Given the description of an element on the screen output the (x, y) to click on. 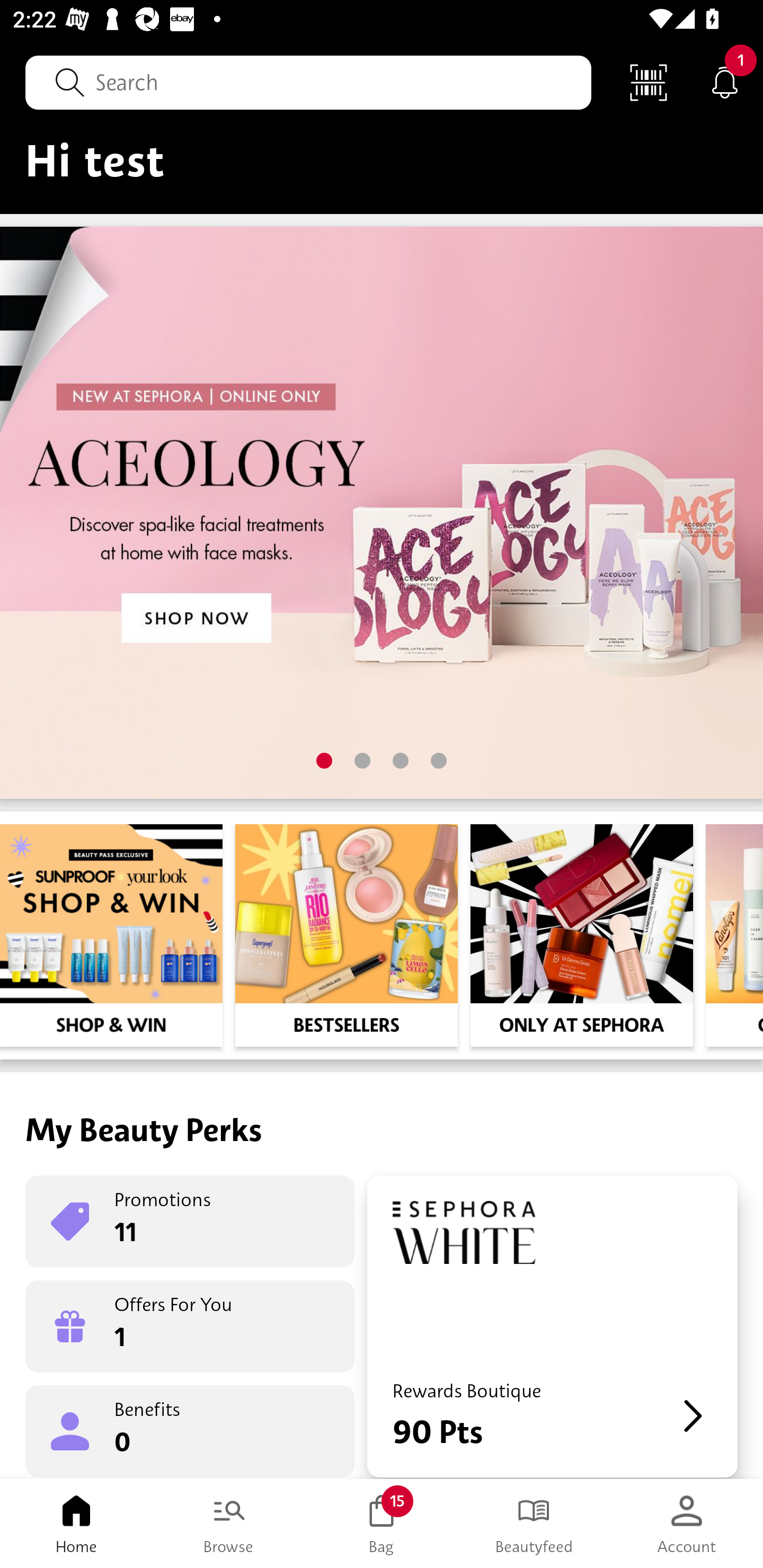
Scan Code (648, 81)
Notifications (724, 81)
Search (308, 81)
Promotions 11 (189, 1221)
Rewards Boutique 90 Pts (552, 1326)
Offers For You 1 (189, 1326)
Benefits 0 (189, 1430)
Browse (228, 1523)
Bag 15 Bag (381, 1523)
Beautyfeed (533, 1523)
Account (686, 1523)
